Given the description of an element on the screen output the (x, y) to click on. 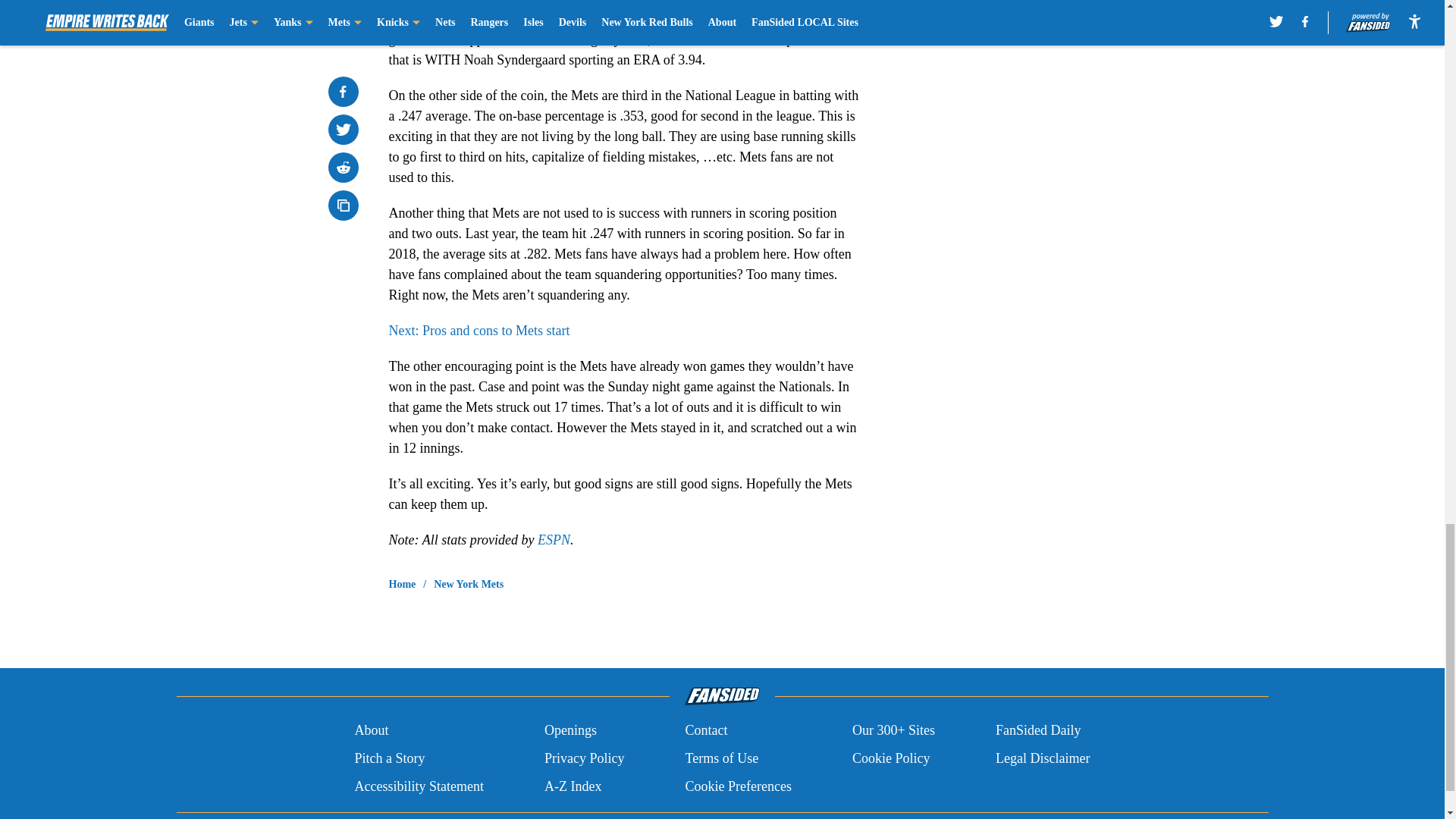
Contact (705, 730)
New York Mets (468, 584)
Next: Pros and cons to Mets start (478, 330)
Openings (570, 730)
ESPN (553, 539)
About (370, 730)
Home (401, 584)
